Given the description of an element on the screen output the (x, y) to click on. 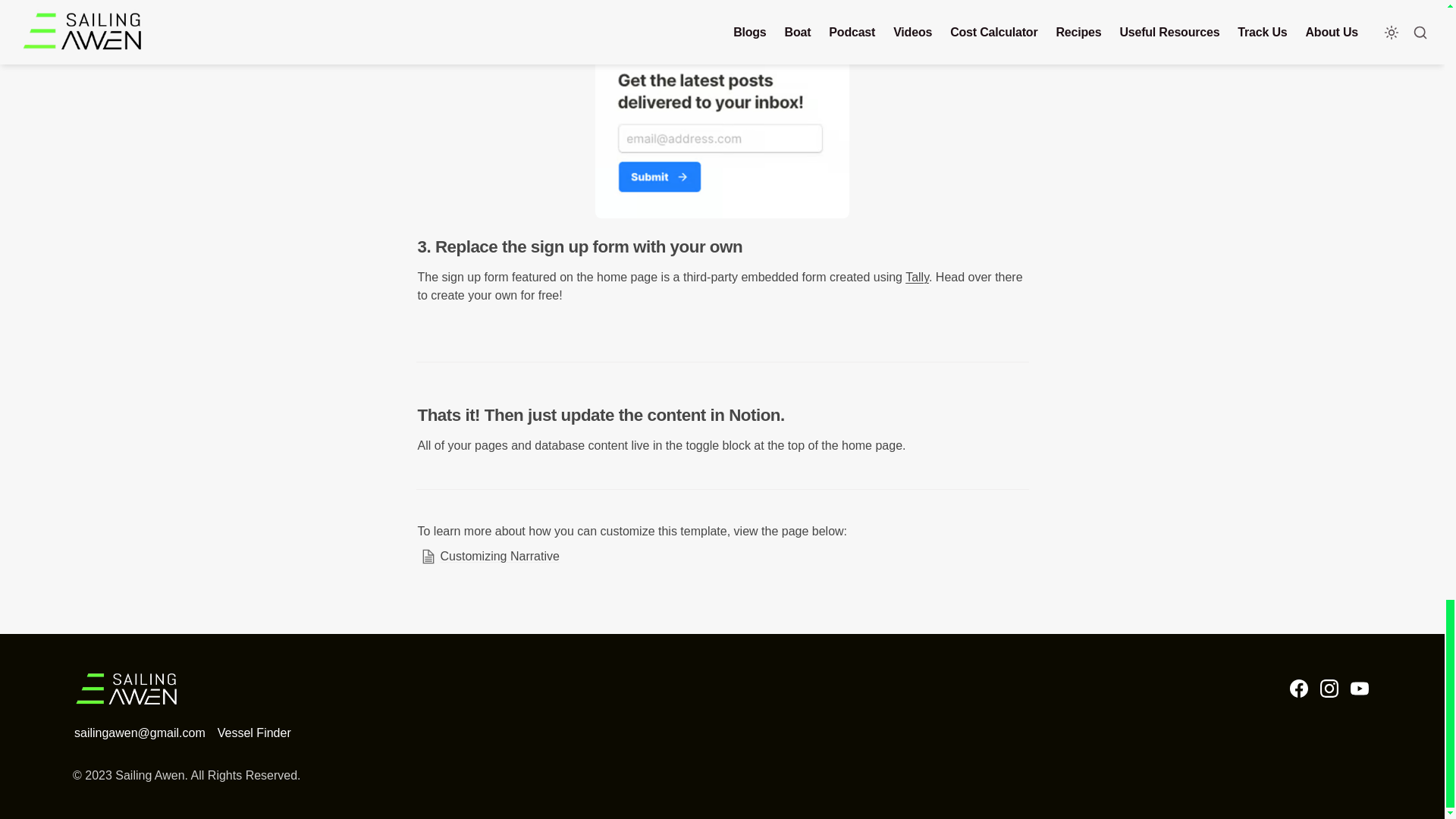
Instagram (1329, 688)
YouTube (1359, 688)
Instagram (1329, 688)
Vessel Finder (253, 733)
Tally (916, 277)
Customizing Narrative (720, 556)
Facebook (1298, 688)
YouTube (1359, 688)
Facebook (1298, 688)
